Given the description of an element on the screen output the (x, y) to click on. 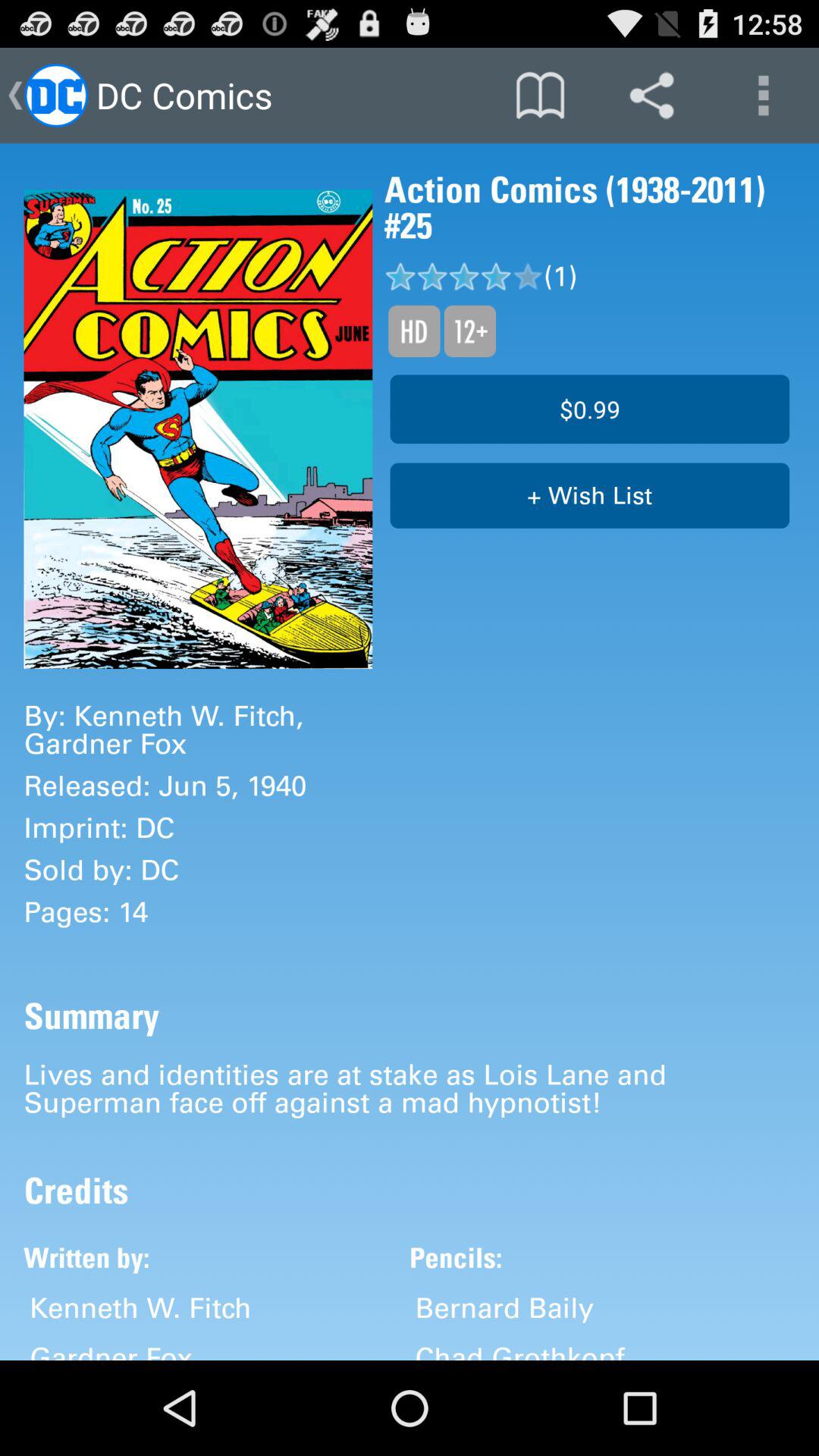
open item above lives and identities (589, 495)
